Given the description of an element on the screen output the (x, y) to click on. 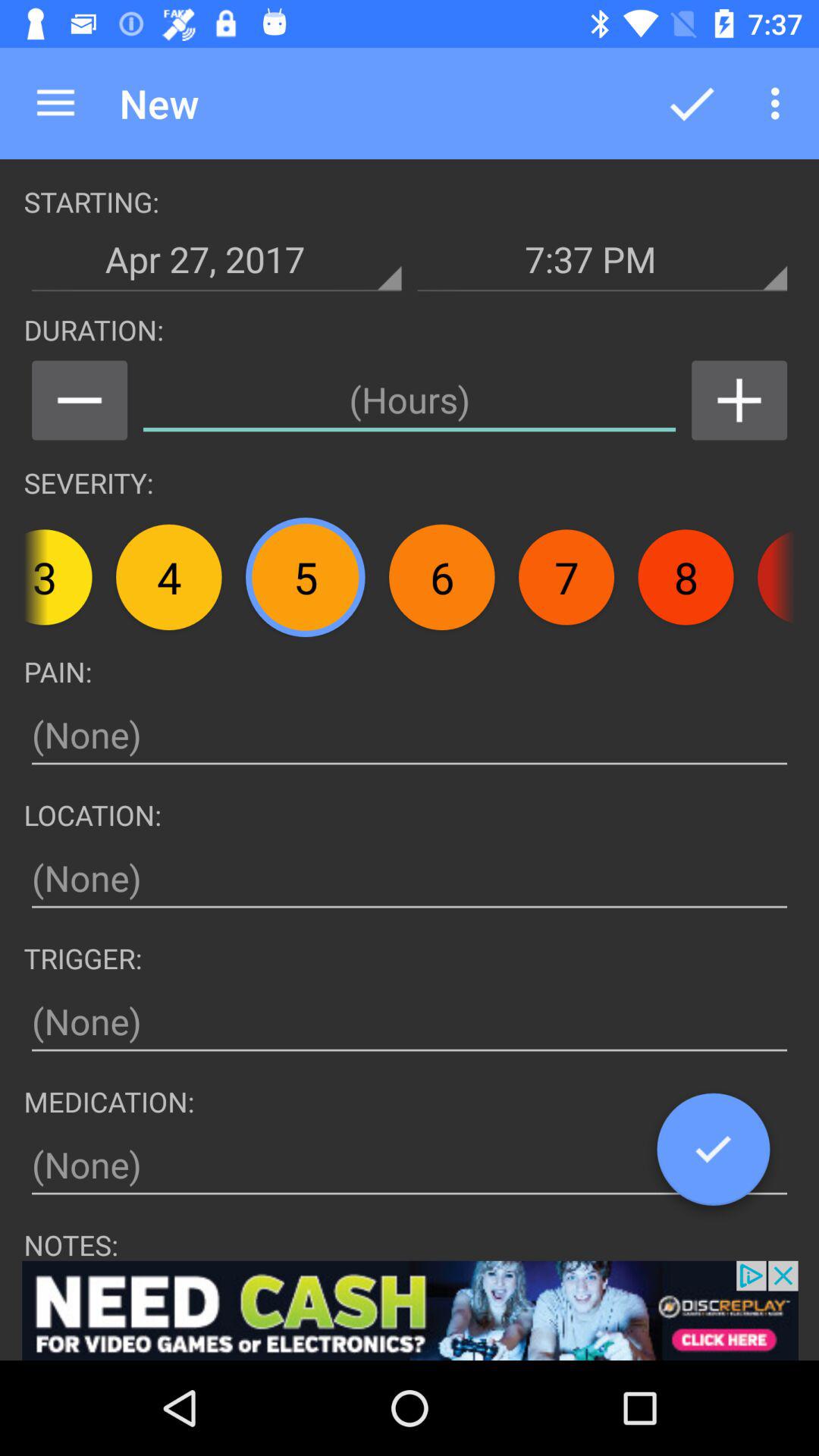
menu (79, 400)
